Given the description of an element on the screen output the (x, y) to click on. 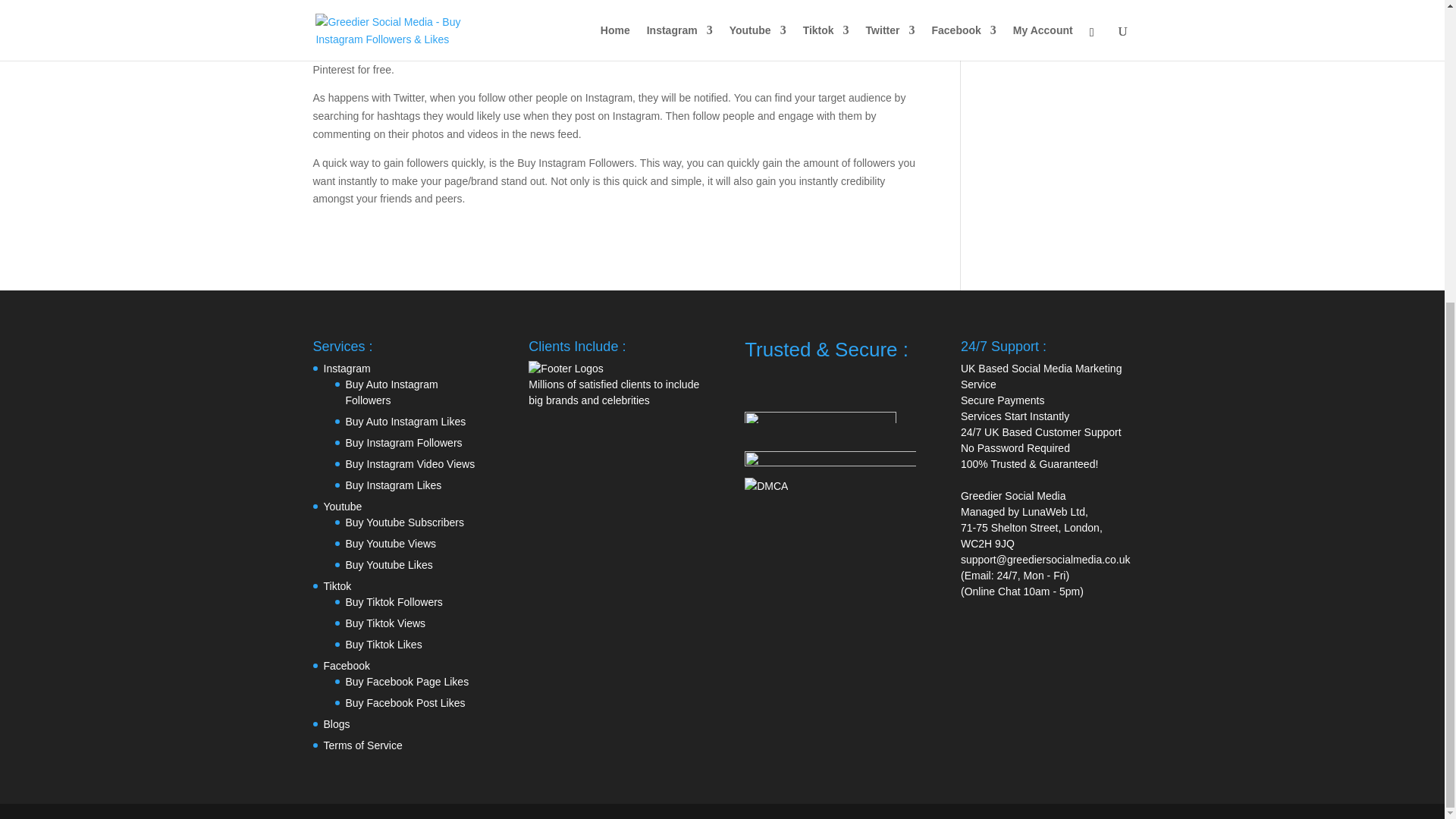
Buy Auto Instagram Followers (392, 392)
Buy Youtube Views (391, 543)
Youtube (342, 506)
Buy Instagram Video Views (411, 463)
Buy Youtube Subscribers (405, 522)
Buy Auto Instagram Likes (405, 421)
Buy Youtube Likes (389, 564)
Buy Instagram Likes (394, 485)
Instagram (346, 368)
Buy Instagram Followers (404, 442)
